Given the description of an element on the screen output the (x, y) to click on. 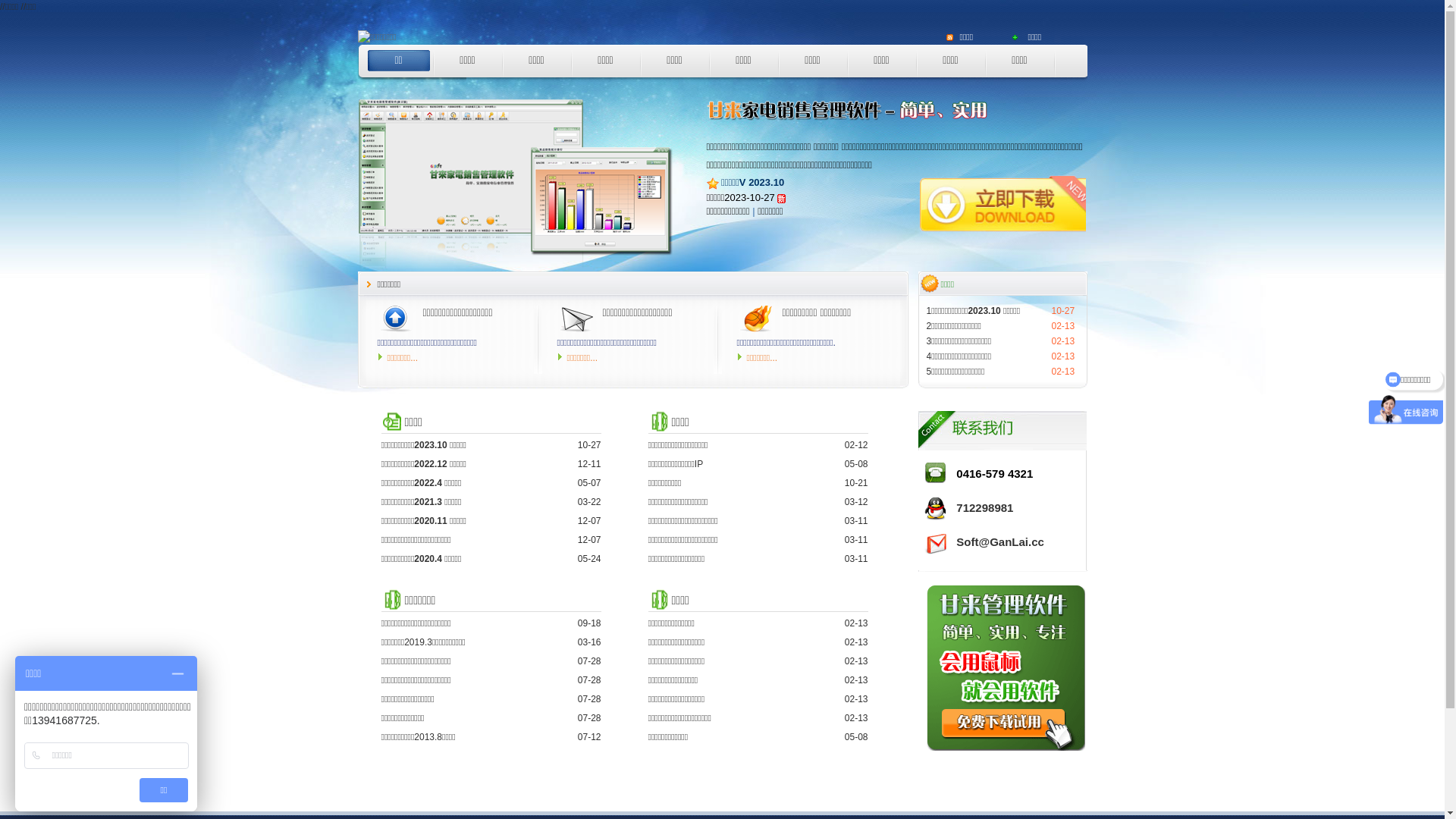
Soft@GanLai.cc Element type: text (999, 541)
712298981 Element type: text (984, 507)
2023-10-27 Element type: text (749, 197)
